Given the description of an element on the screen output the (x, y) to click on. 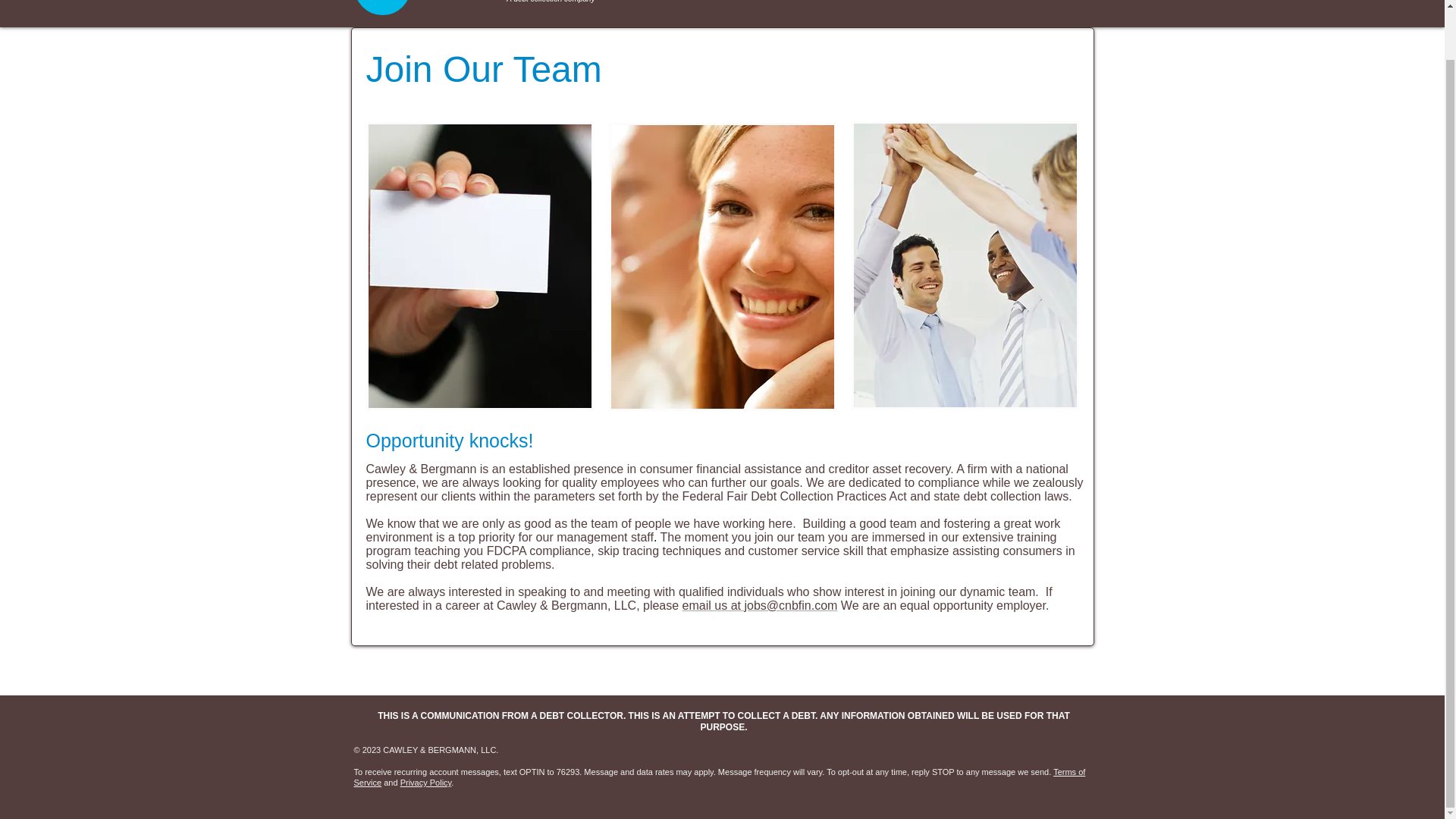
Terms of Service (718, 777)
Privacy Policy (425, 782)
CONTACT (913, 4)
EMPLOYMENT (991, 4)
ABOUT US (840, 4)
HOME (775, 4)
email  (698, 604)
